Given the description of an element on the screen output the (x, y) to click on. 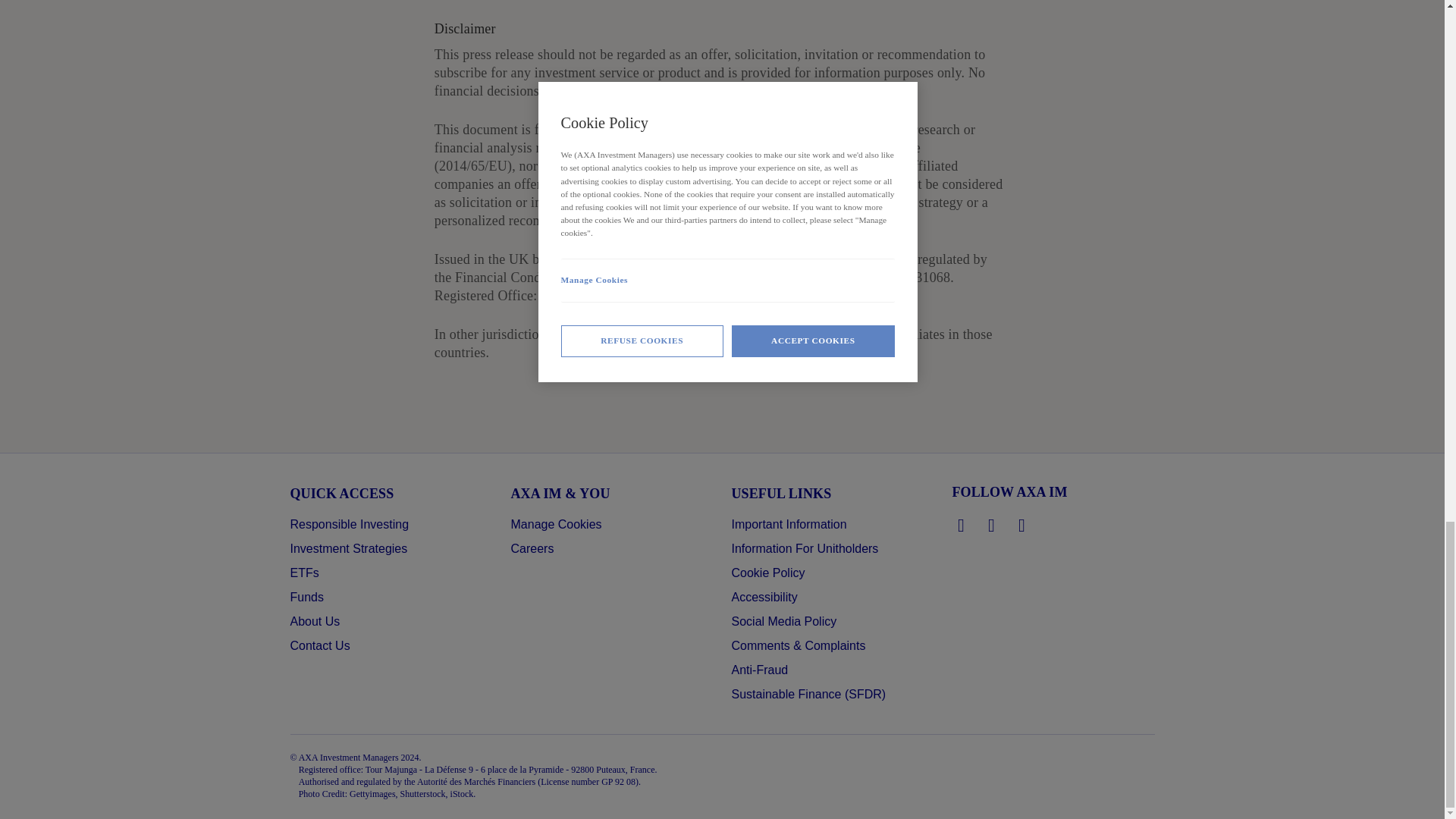
Follow us on LinkedIn (961, 525)
Follow us on Youtube (1021, 525)
Follow us on Twitter (991, 525)
